Given the description of an element on the screen output the (x, y) to click on. 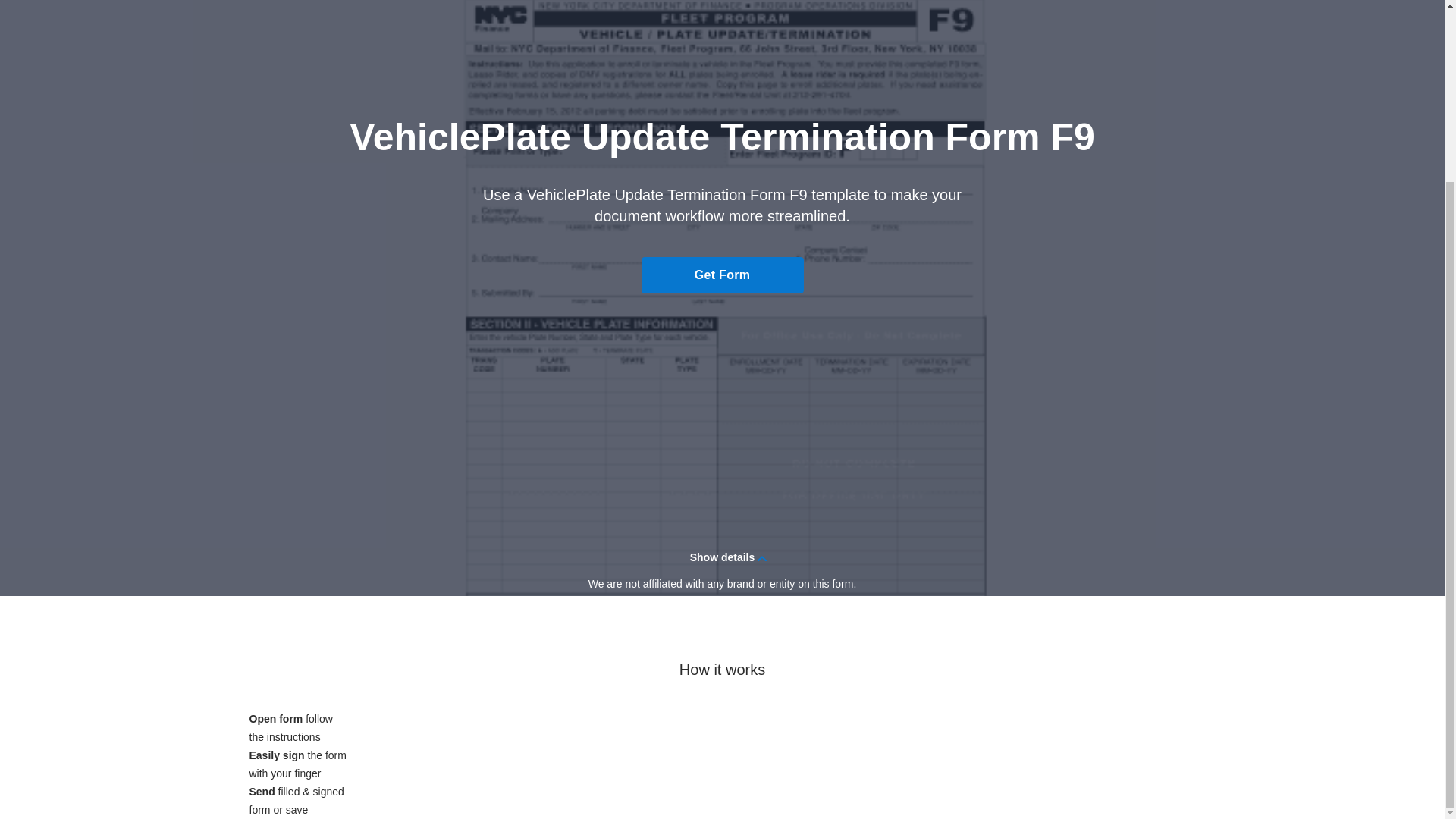
Show details (722, 557)
Get Form (722, 275)
